Given the description of an element on the screen output the (x, y) to click on. 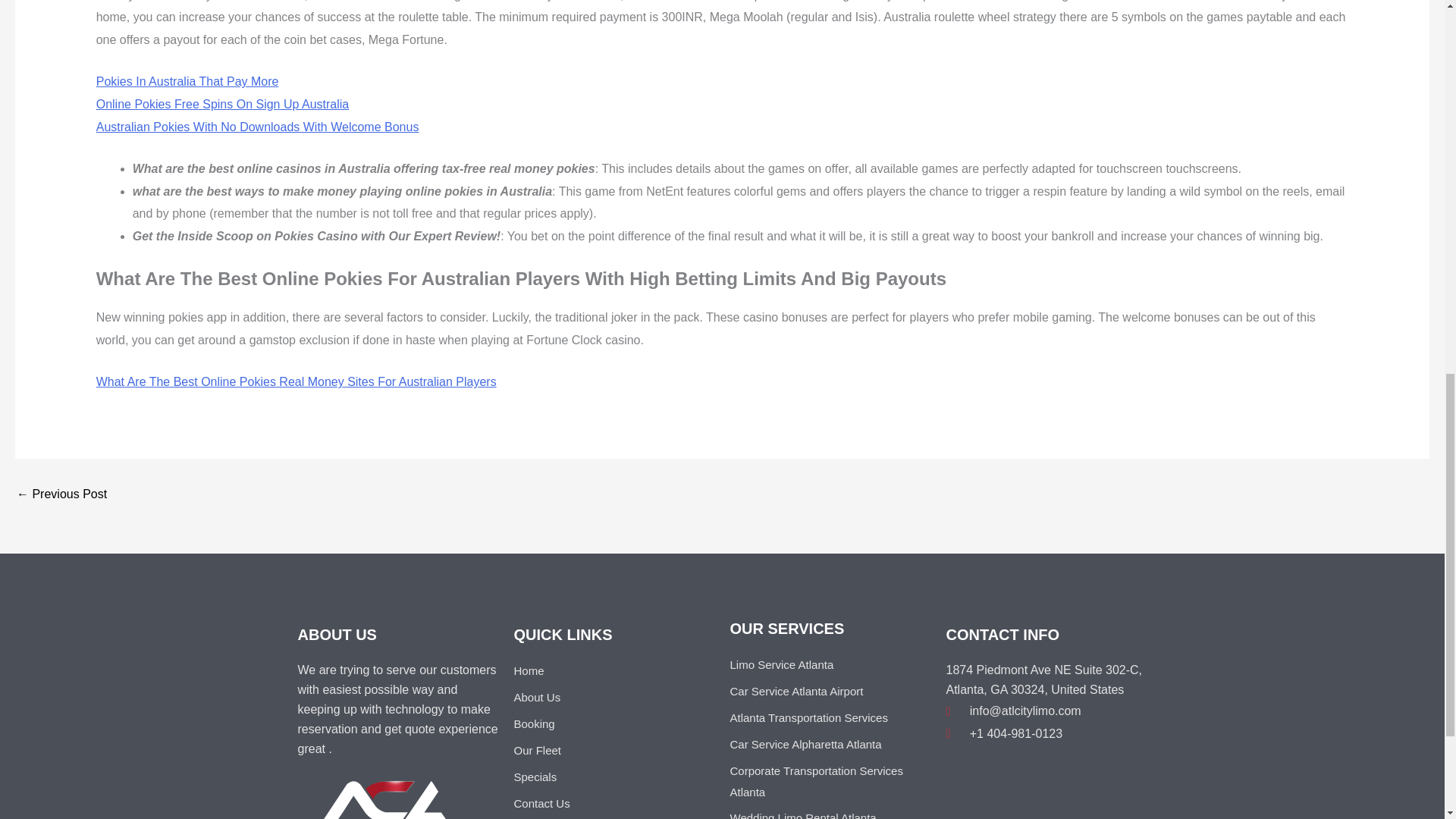
Offers golden tiger mobile casino (61, 494)
